Given the description of an element on the screen output the (x, y) to click on. 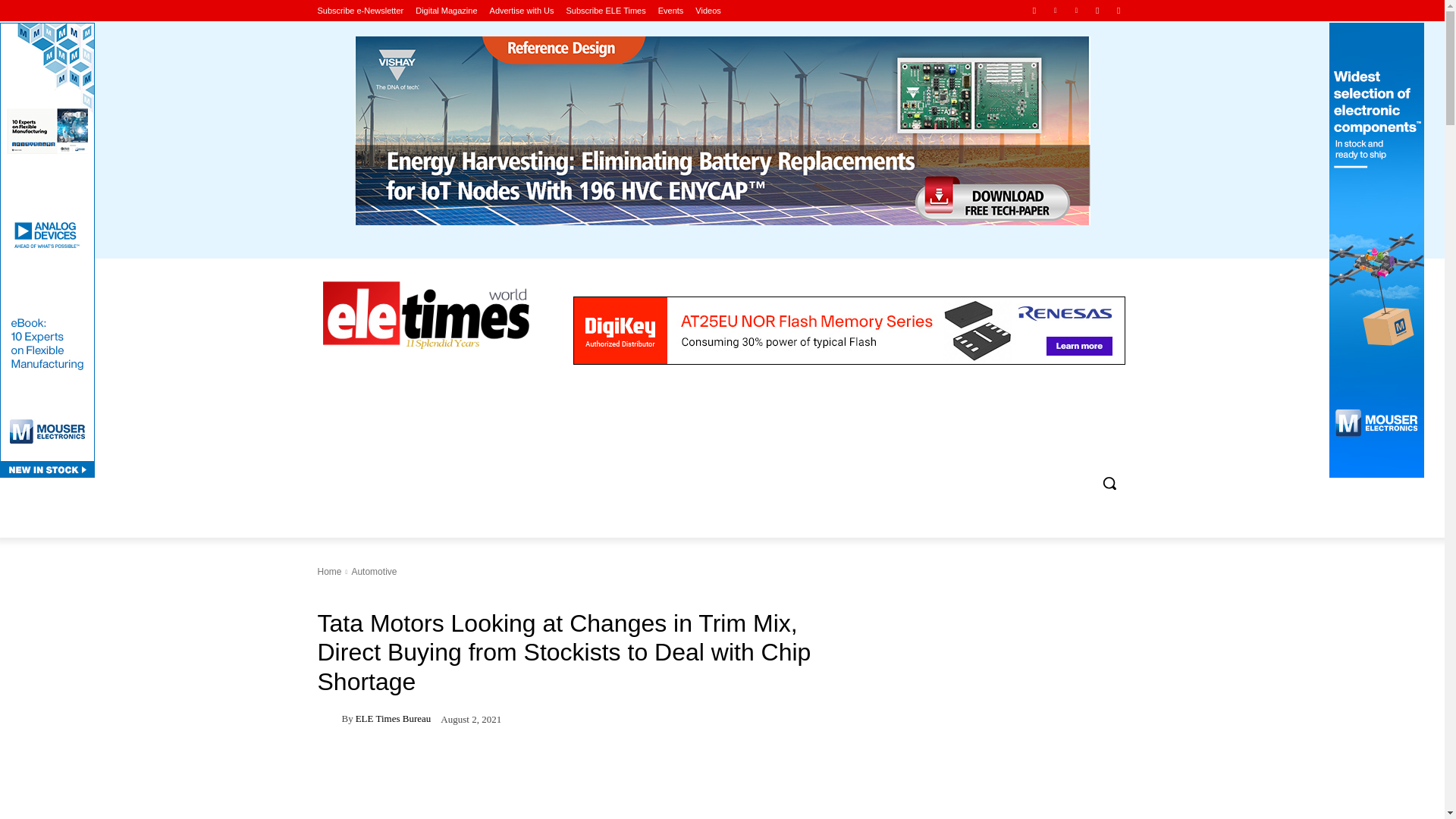
Twitter (1117, 9)
Pinterest (1075, 9)
Linkedin (1055, 9)
Tumblr (1097, 9)
Facebook (1034, 9)
